Given the description of an element on the screen output the (x, y) to click on. 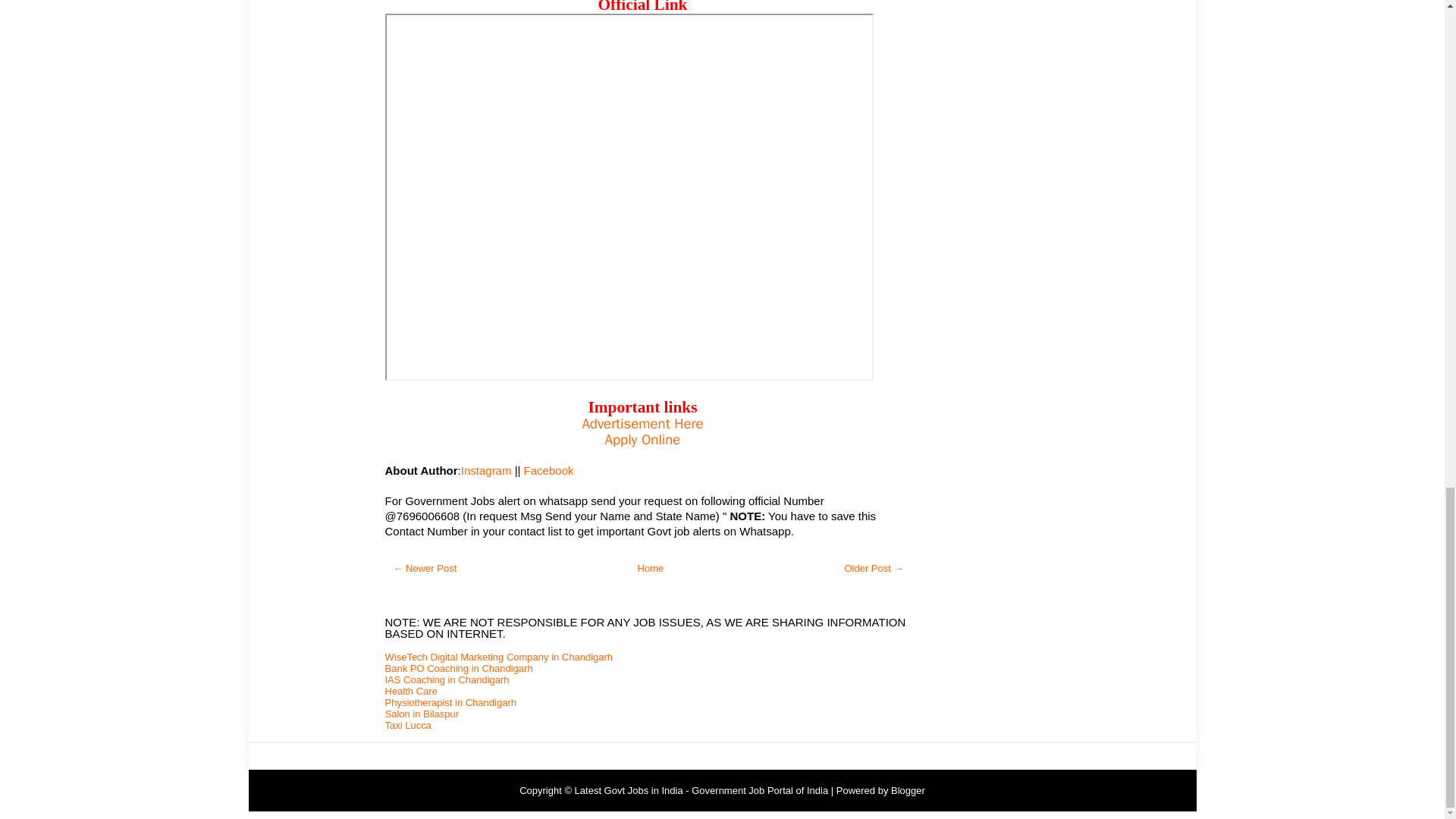
Newer Post (425, 568)
Older Post (873, 568)
